Given the description of an element on the screen output the (x, y) to click on. 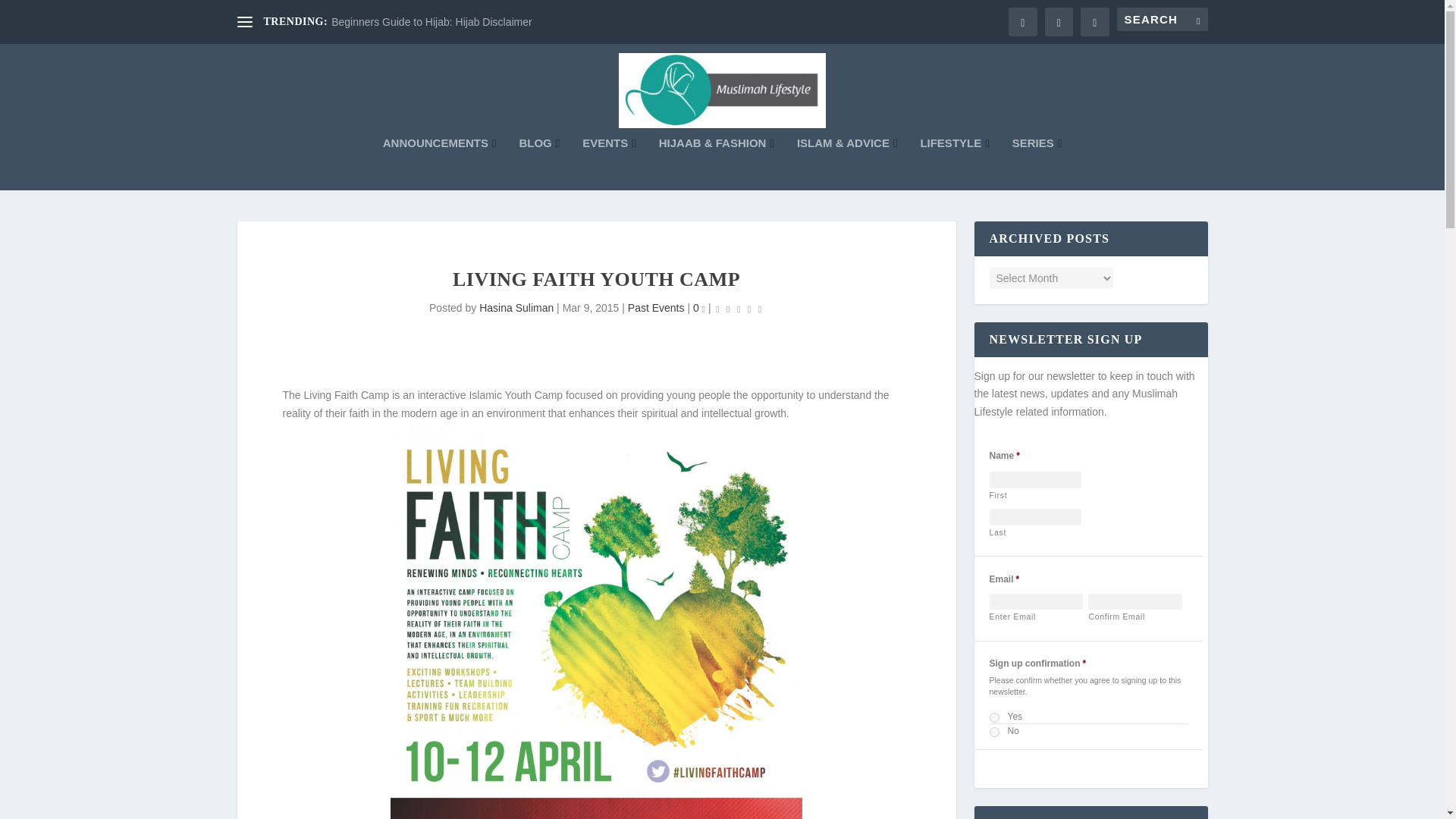
No (994, 732)
Yes (994, 717)
Search for: (1161, 19)
ANNOUNCEMENTS (439, 163)
EVENTS (609, 163)
Beginners Guide to Hijab: Hijab Disclaimer (431, 21)
